Given the description of an element on the screen output the (x, y) to click on. 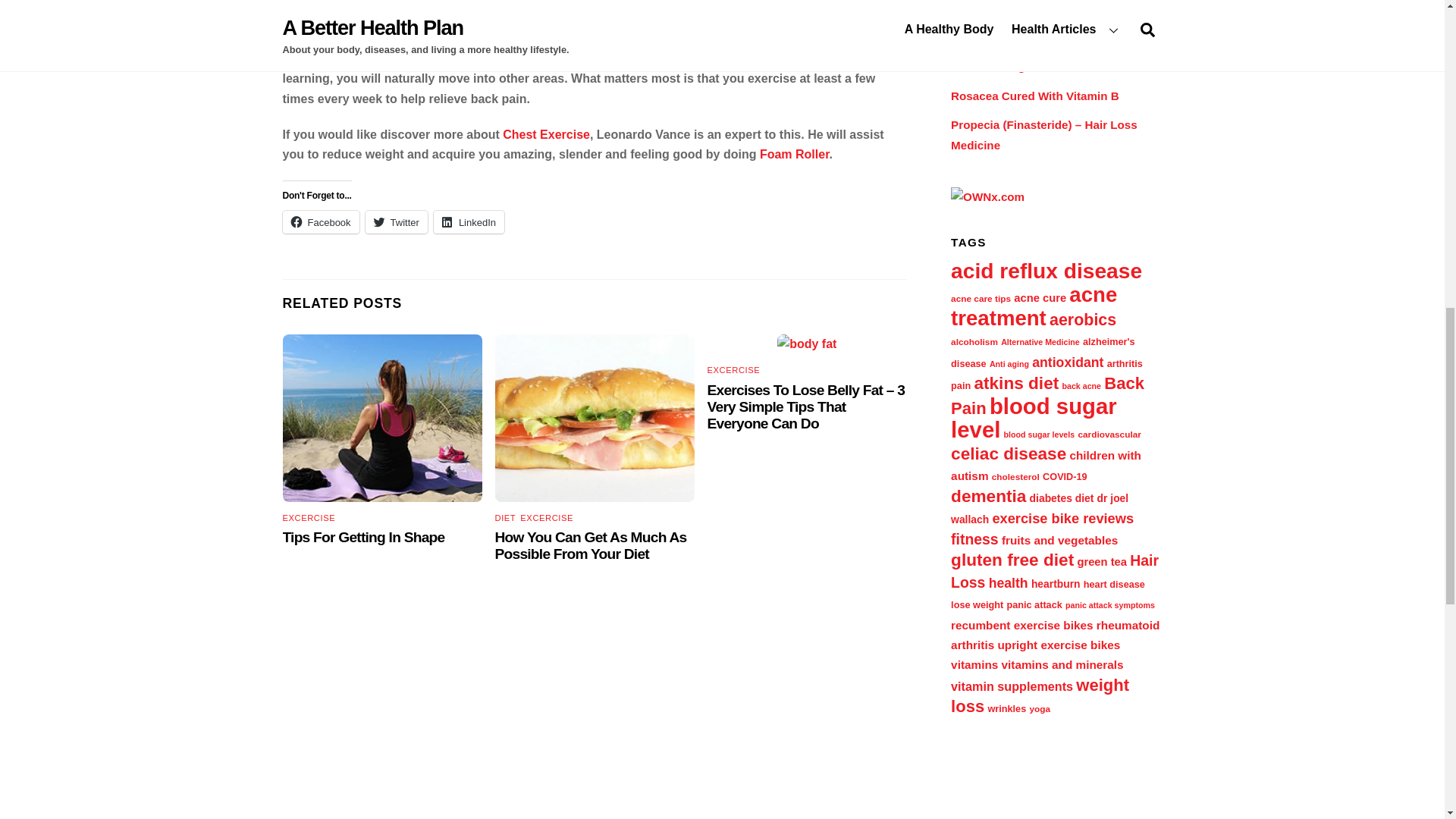
Foam Roller (794, 154)
Fitness2 (381, 418)
Click to share on Facebook (320, 221)
DIET (505, 516)
Facebook (320, 221)
Tips For Getting In Shape (363, 537)
Twitter (396, 221)
Exercise and Fitness (725, 38)
EXCERCISE (546, 516)
LinkedIn (468, 221)
